Given the description of an element on the screen output the (x, y) to click on. 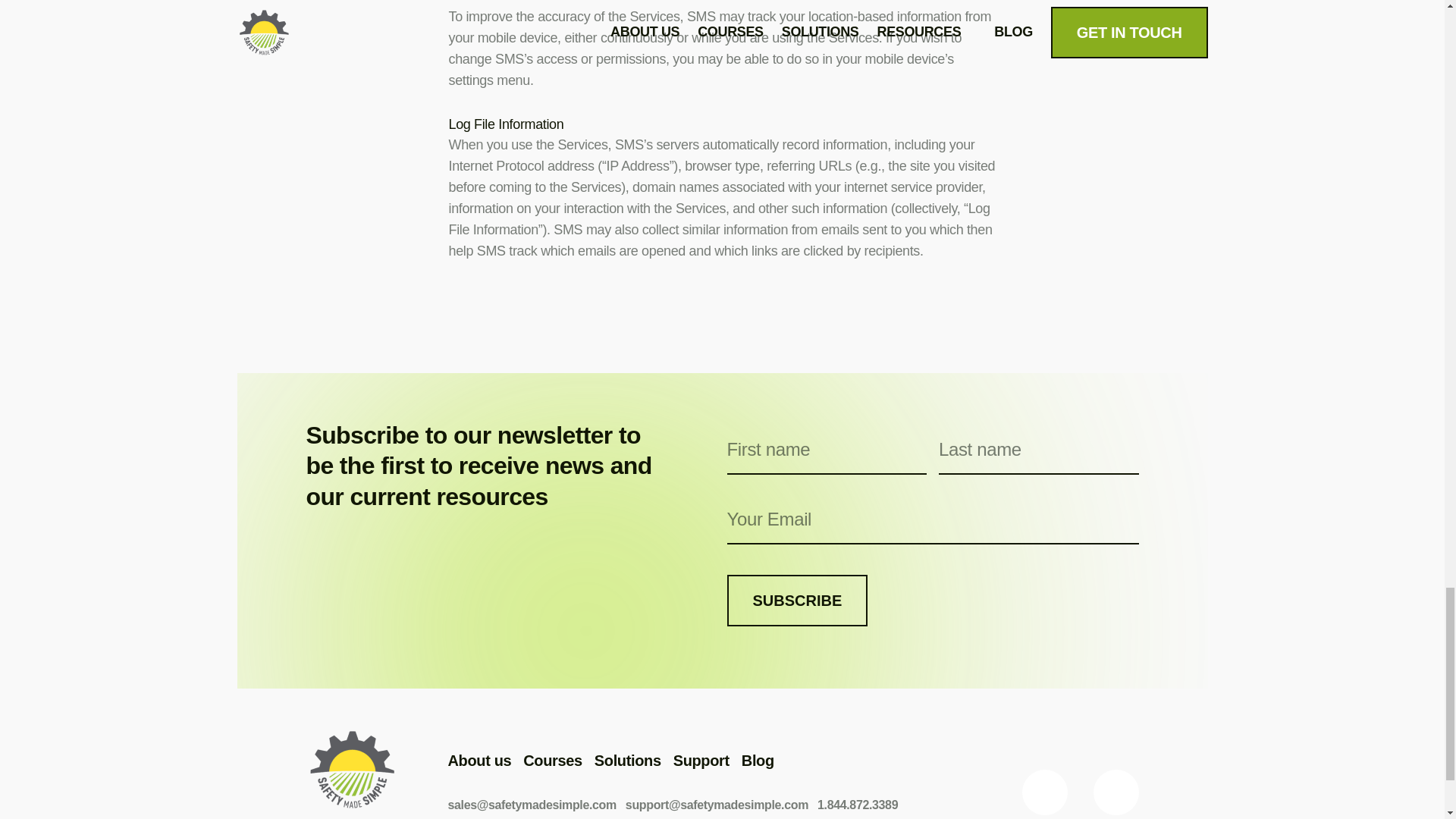
Solutions (627, 760)
Courses (552, 760)
Subscribe (796, 600)
Support (700, 760)
1.844.872.3389 (857, 804)
Subscribe (796, 600)
Blog (757, 760)
About us (478, 760)
